Given the description of an element on the screen output the (x, y) to click on. 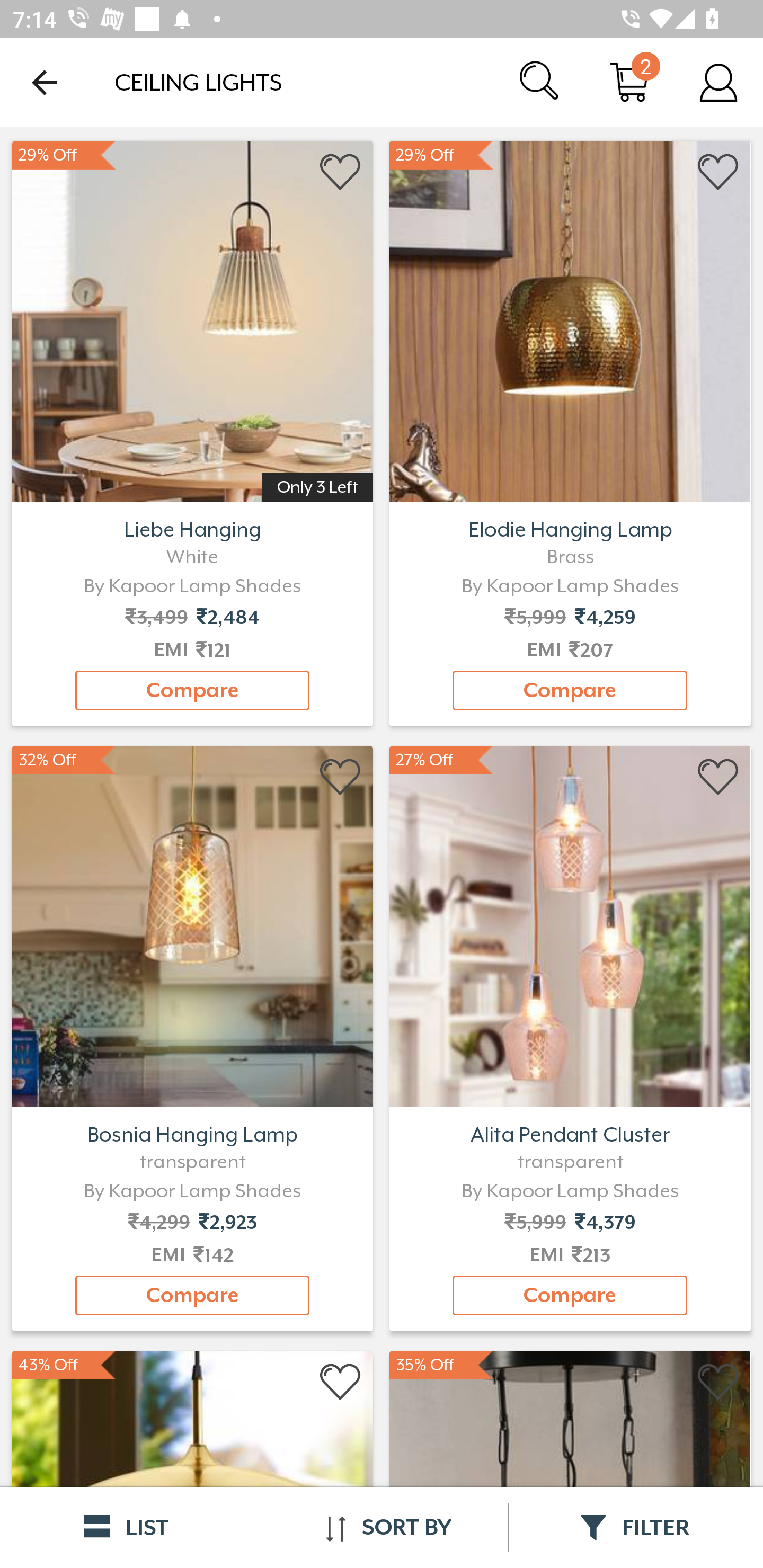
Navigate up (44, 82)
Search (540, 81)
Cart (629, 81)
Account Details (718, 81)
 (341, 172)
 (718, 172)
Compare (192, 690)
Compare (569, 690)
 (341, 777)
 (718, 777)
Compare (192, 1295)
Compare (569, 1295)
 (341, 1382)
 (718, 1382)
 LIST (127, 1527)
SORT BY (381, 1527)
 FILTER (635, 1527)
